Given the description of an element on the screen output the (x, y) to click on. 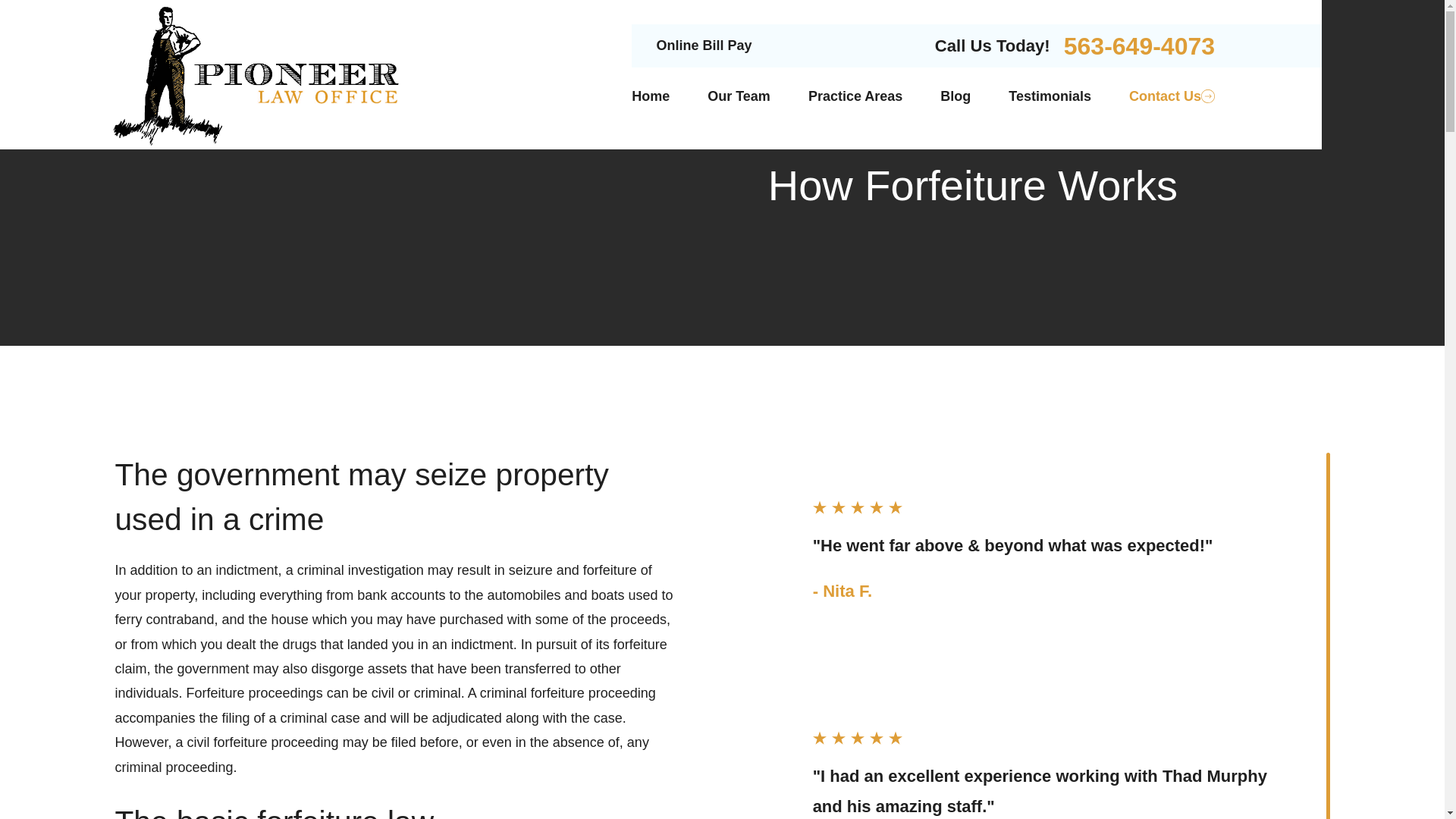
Home (257, 74)
Our Team (738, 95)
5 Star Rating (1046, 737)
Practice Areas (855, 95)
5 Star Rating (1046, 507)
Online Bill Pay (704, 45)
563-649-4073 (1139, 46)
Home (650, 95)
